Given the description of an element on the screen output the (x, y) to click on. 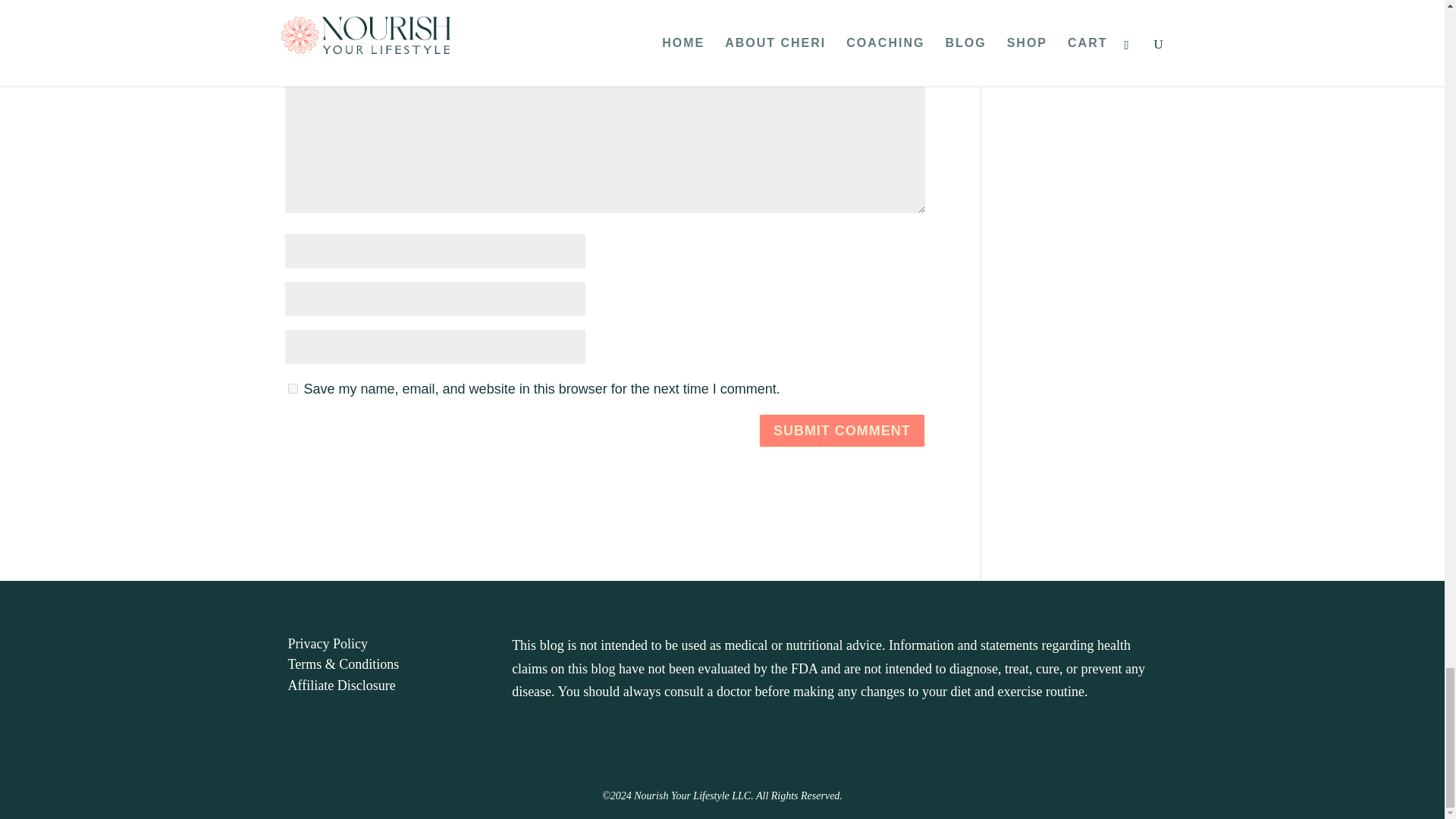
yes (293, 388)
Submit Comment (841, 430)
Submit Comment (841, 430)
